Given the description of an element on the screen output the (x, y) to click on. 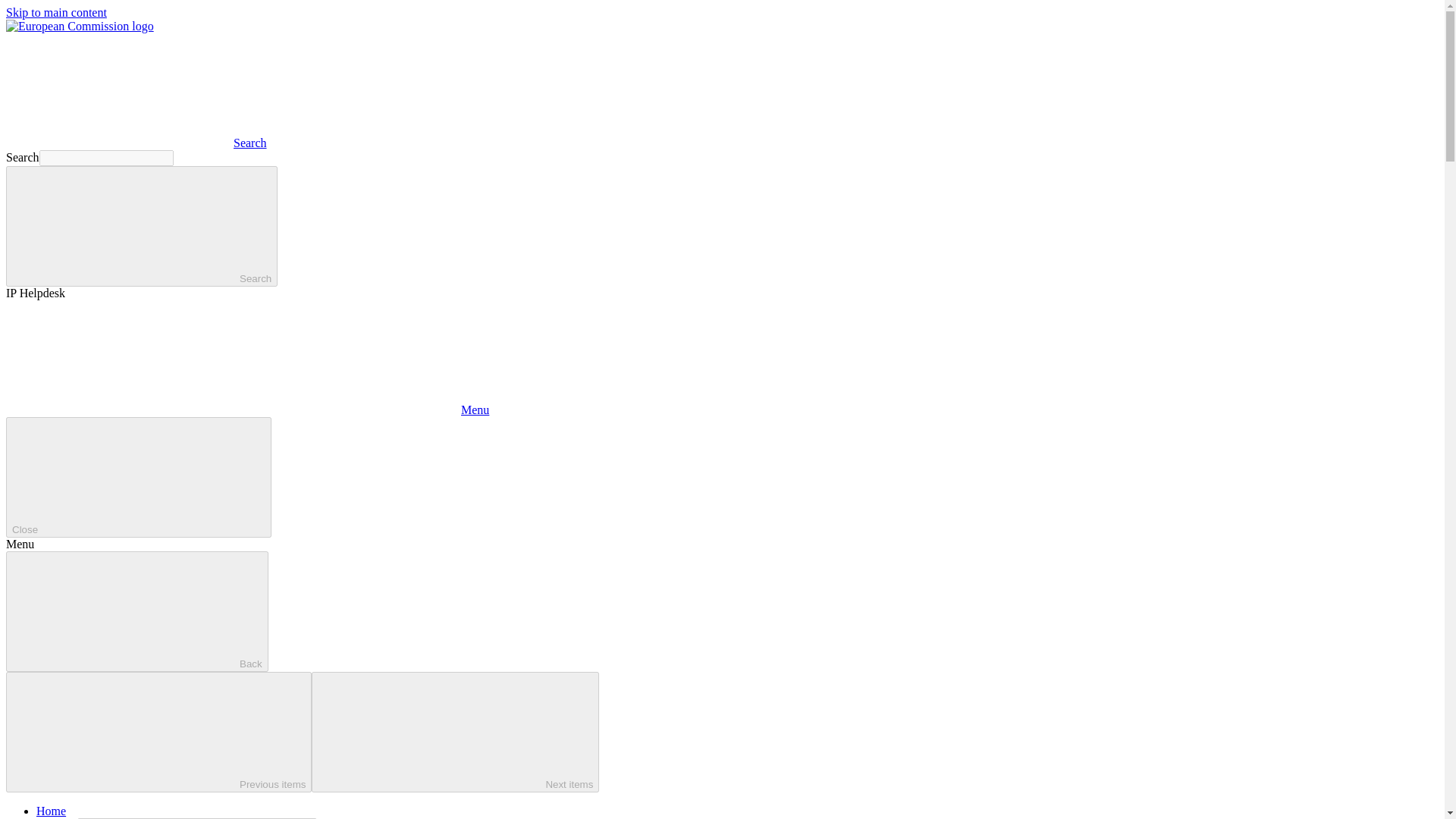
Search (135, 142)
Previous items (158, 731)
Back (136, 611)
Home (50, 810)
Search (141, 226)
Skip to main content (55, 11)
Next items (454, 731)
European Commission (79, 25)
Close (137, 476)
Menu (247, 409)
